Given the description of an element on the screen output the (x, y) to click on. 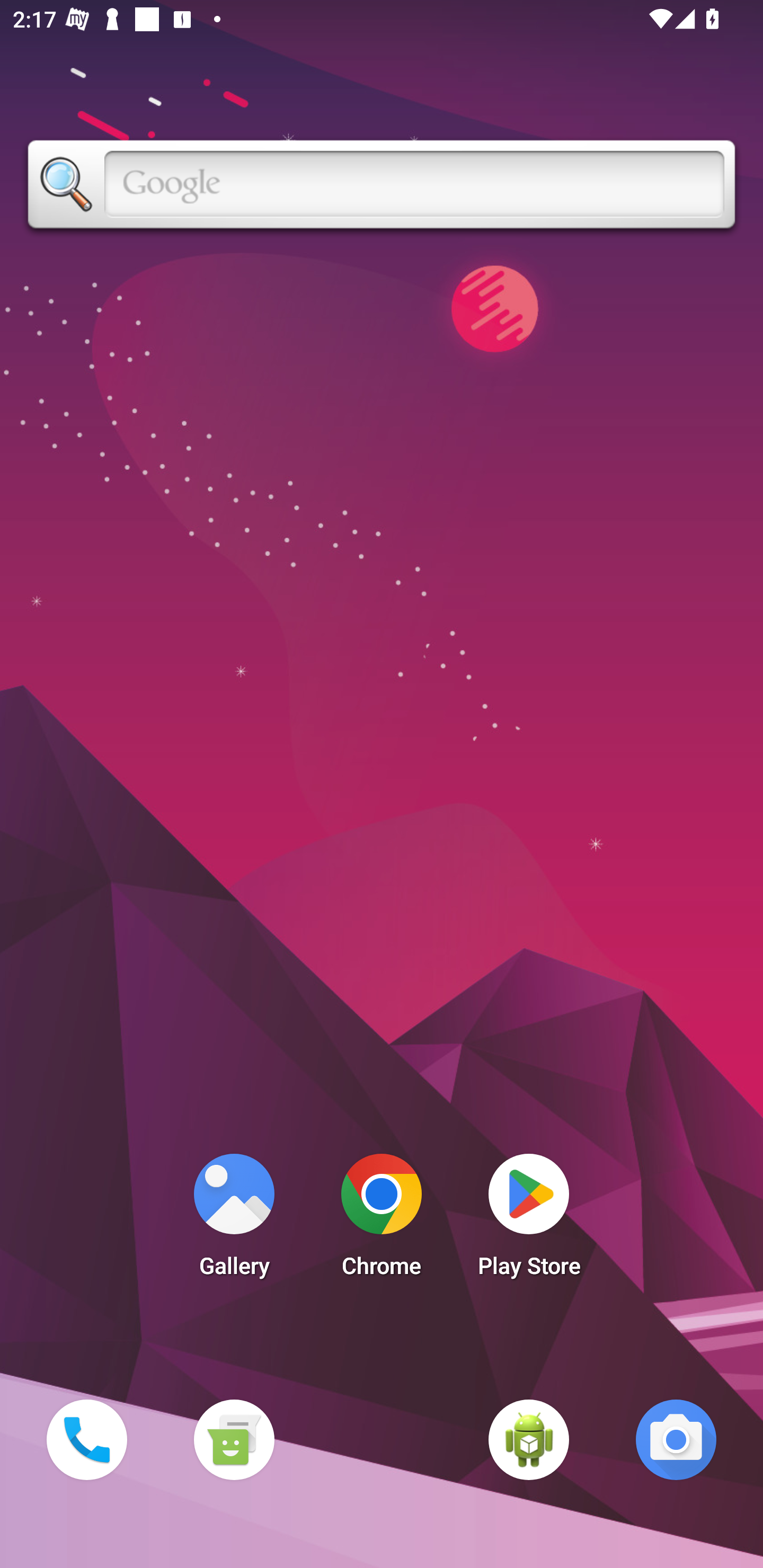
Gallery (233, 1220)
Chrome (381, 1220)
Play Store (528, 1220)
Phone (86, 1439)
Messaging (233, 1439)
WebView Browser Tester (528, 1439)
Camera (676, 1439)
